Given the description of an element on the screen output the (x, y) to click on. 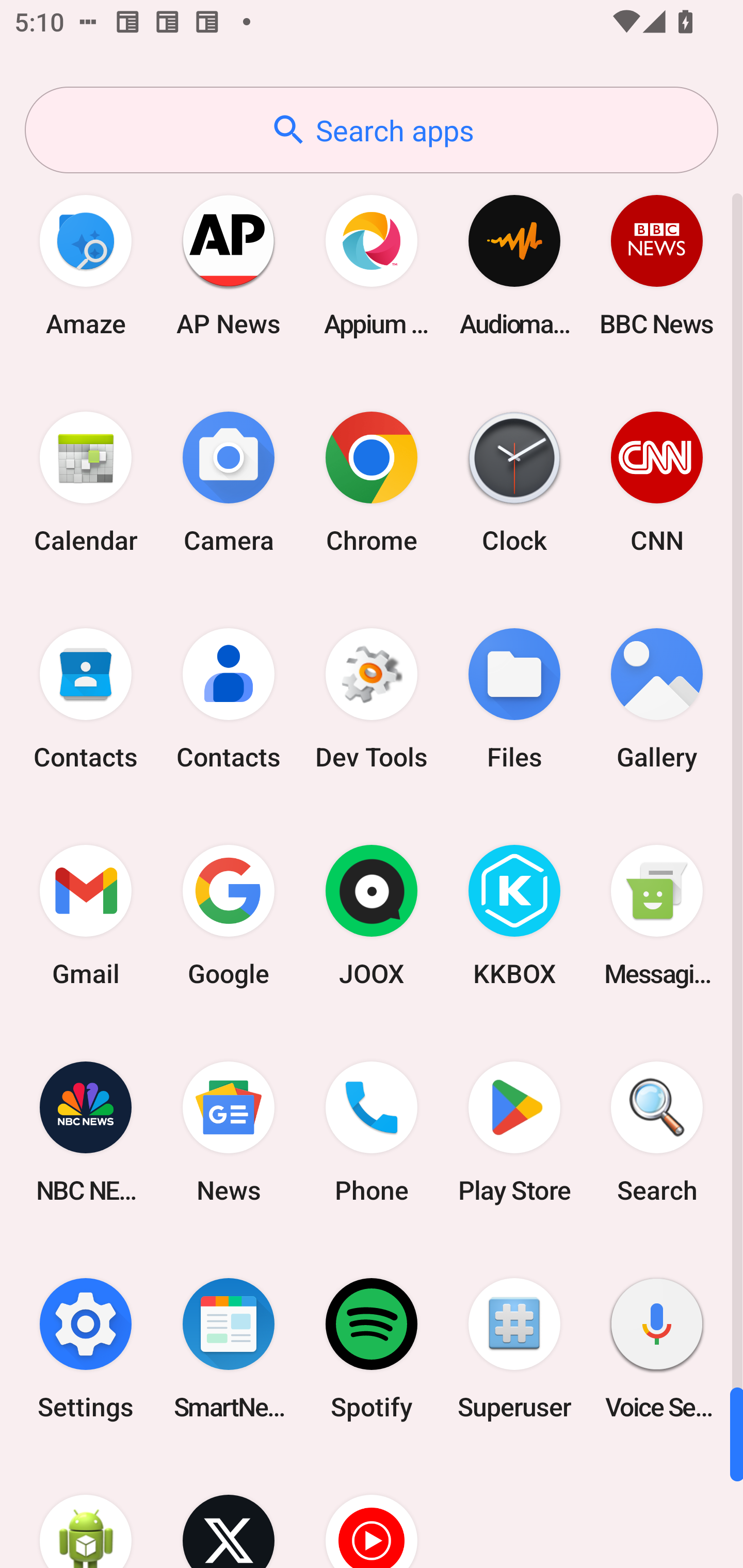
  Search apps (371, 130)
Amaze (85, 264)
AP News (228, 264)
Appium Settings (371, 264)
Audio­mack (514, 264)
BBC News (656, 264)
Calendar (85, 482)
Camera (228, 482)
Chrome (371, 482)
Clock (514, 482)
CNN (656, 482)
Contacts (85, 699)
Contacts (228, 699)
Dev Tools (371, 699)
Files (514, 699)
Gallery (656, 699)
Gmail (85, 915)
Google (228, 915)
JOOX (371, 915)
KKBOX (514, 915)
Messaging (656, 915)
NBC NEWS (85, 1131)
News (228, 1131)
Phone (371, 1131)
Play Store (514, 1131)
Search (656, 1131)
Settings (85, 1348)
SmartNews (228, 1348)
Spotify (371, 1348)
Superuser (514, 1348)
Voice Search (656, 1348)
WebView Browser Tester (85, 1512)
X (228, 1512)
YT Music (371, 1512)
